Given the description of an element on the screen output the (x, y) to click on. 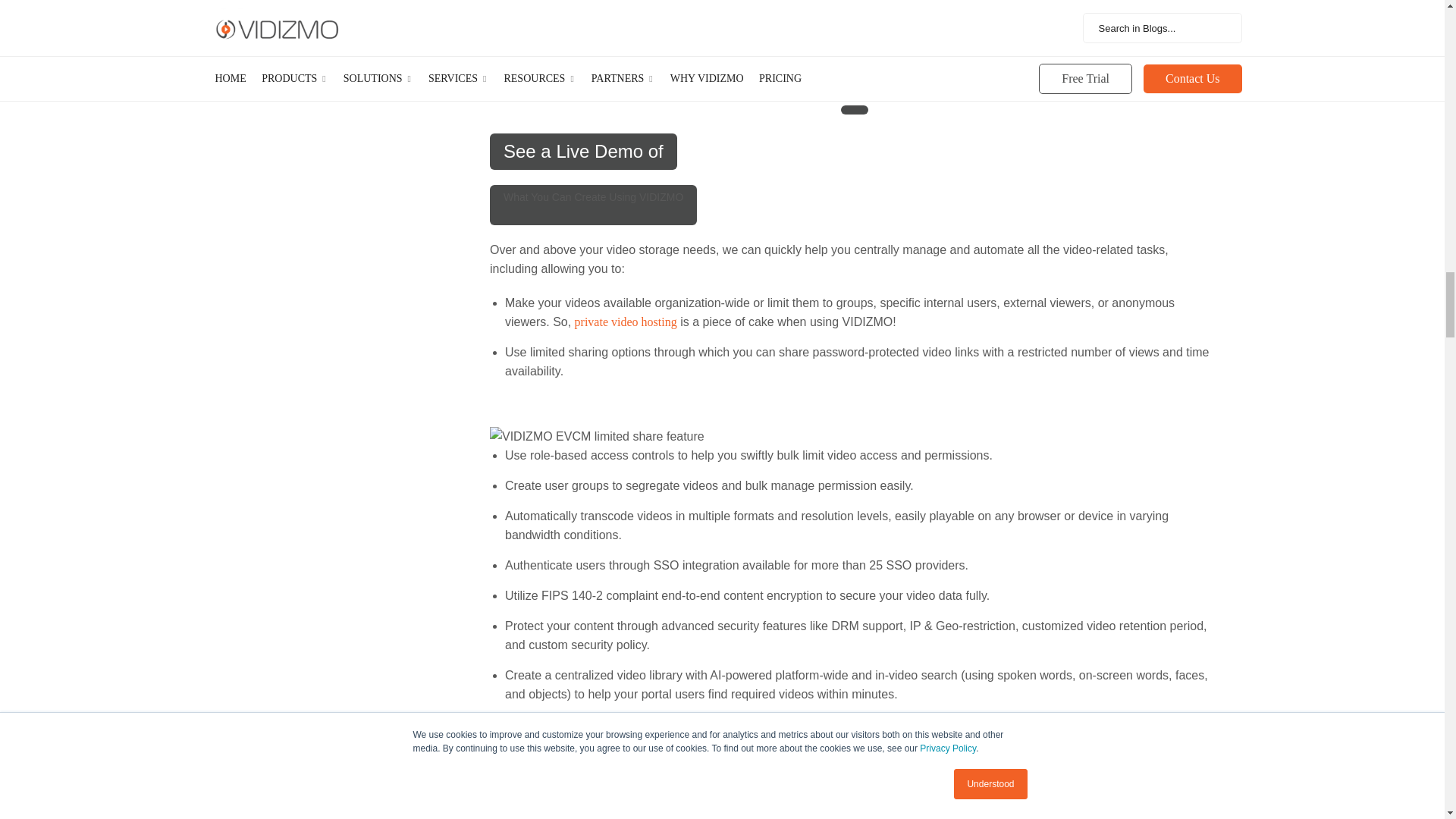
See a Live Demo of  What You Can Create Using VIDIZMO (593, 205)
See a Live Demo of  What You Can Create Using VIDIZMO (854, 109)
See a Live Demo of  What You Can Create Using VIDIZMO (583, 151)
